Given the description of an element on the screen output the (x, y) to click on. 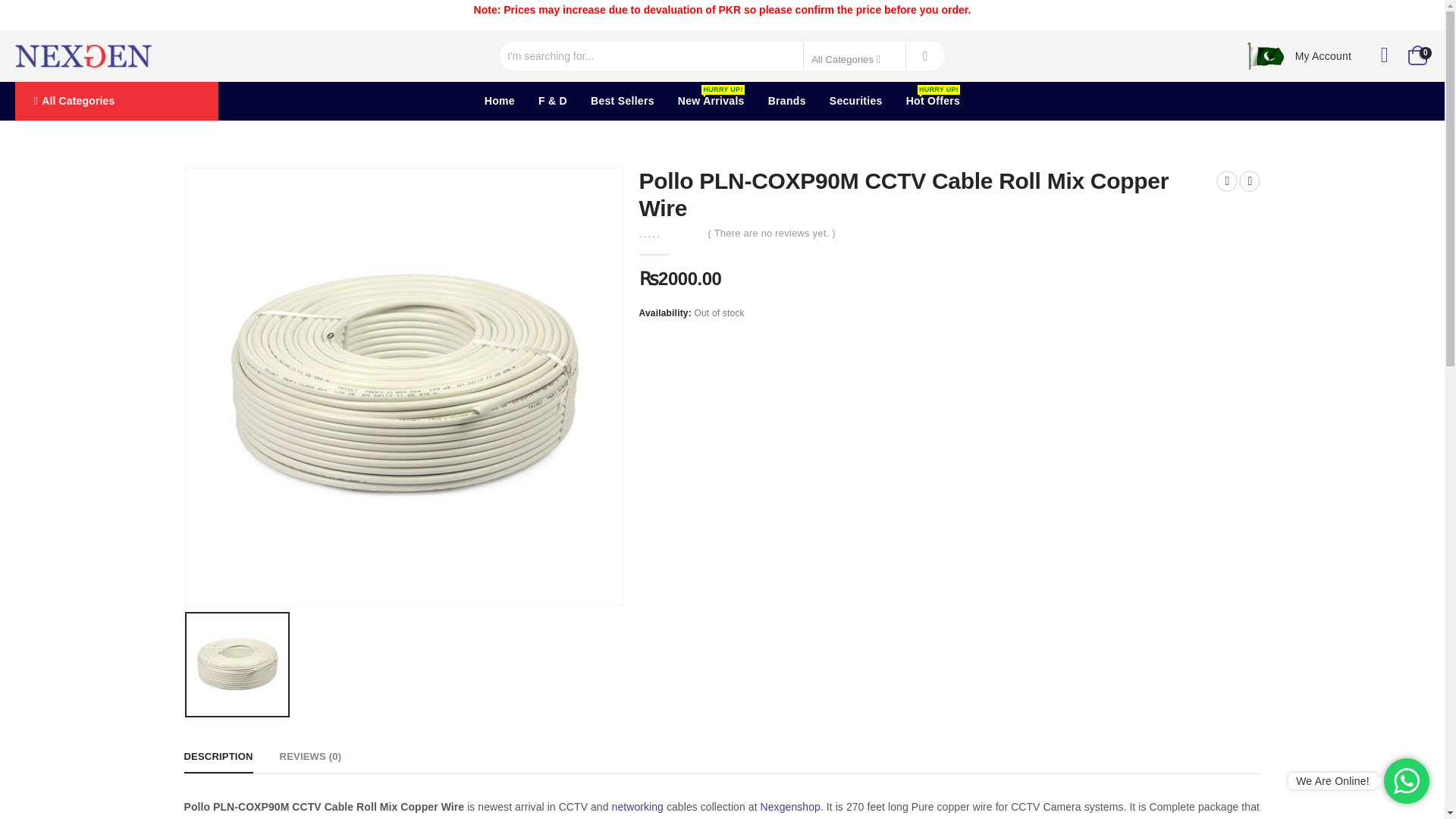
Search (924, 55)
NexGen Shop - NexGen Shop (82, 56)
My Account (1323, 55)
